Given the description of an element on the screen output the (x, y) to click on. 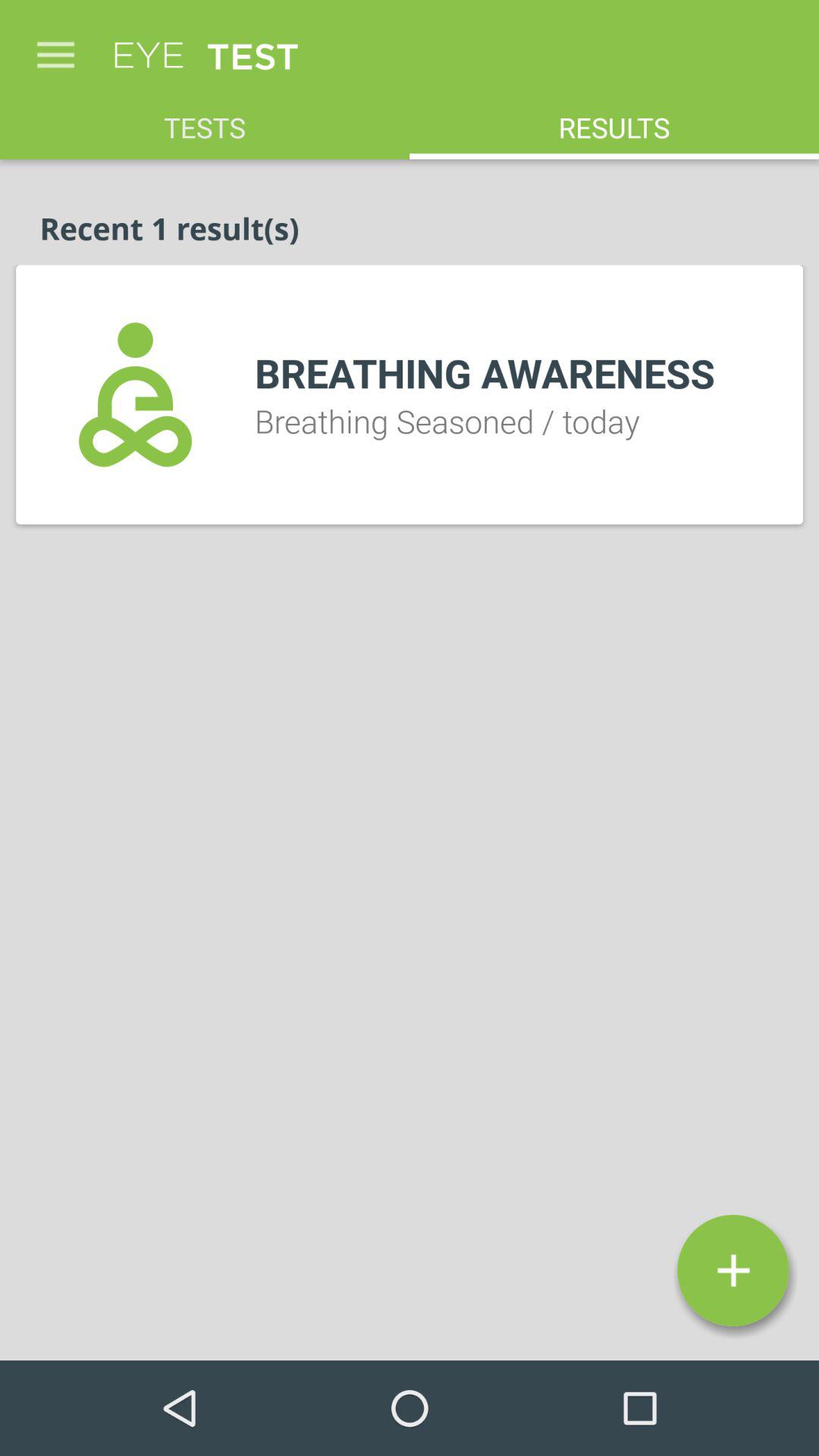
select icon at the top right corner (614, 119)
